Given the description of an element on the screen output the (x, y) to click on. 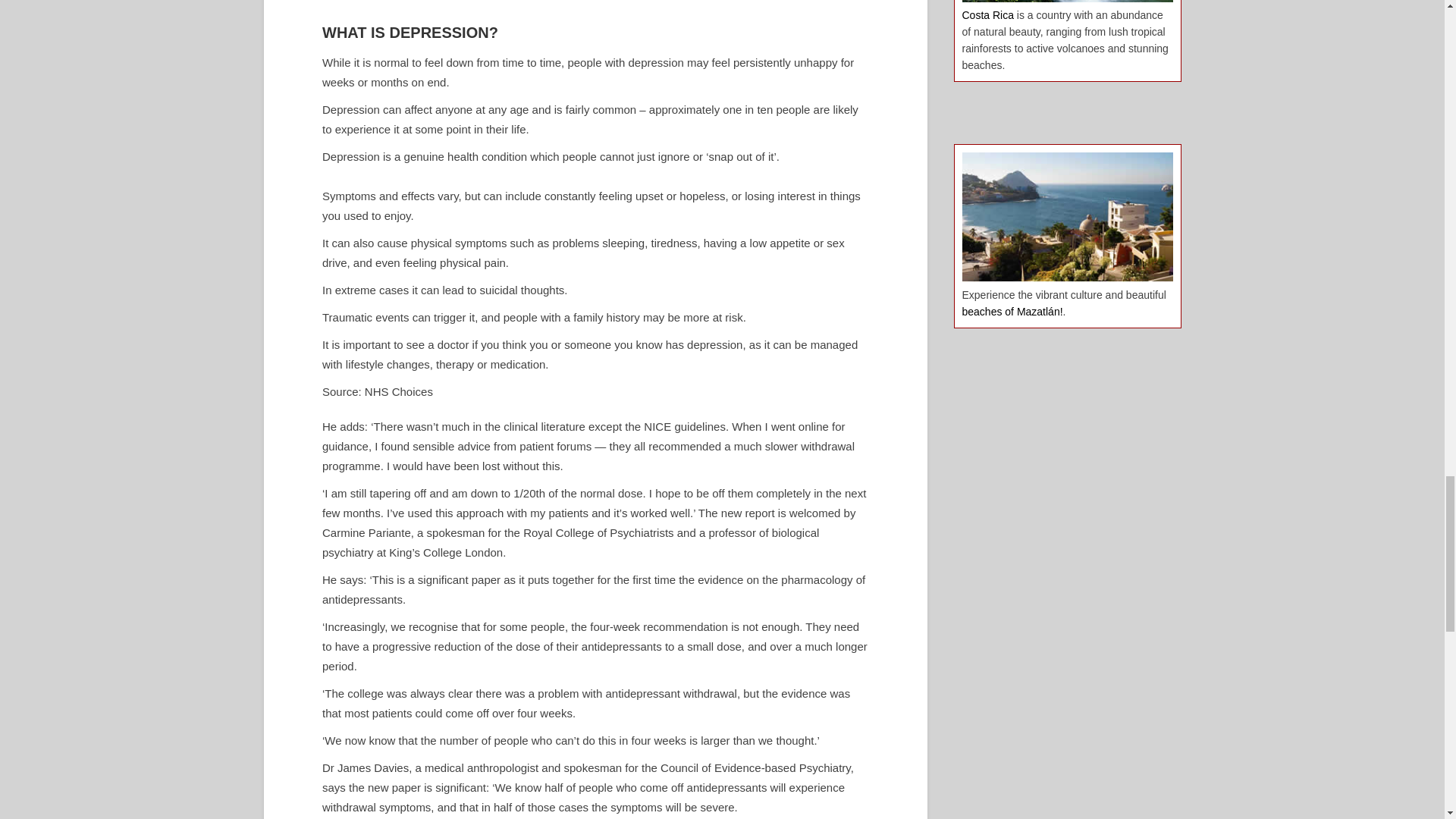
Costa Rica (986, 15)
